Given the description of an element on the screen output the (x, y) to click on. 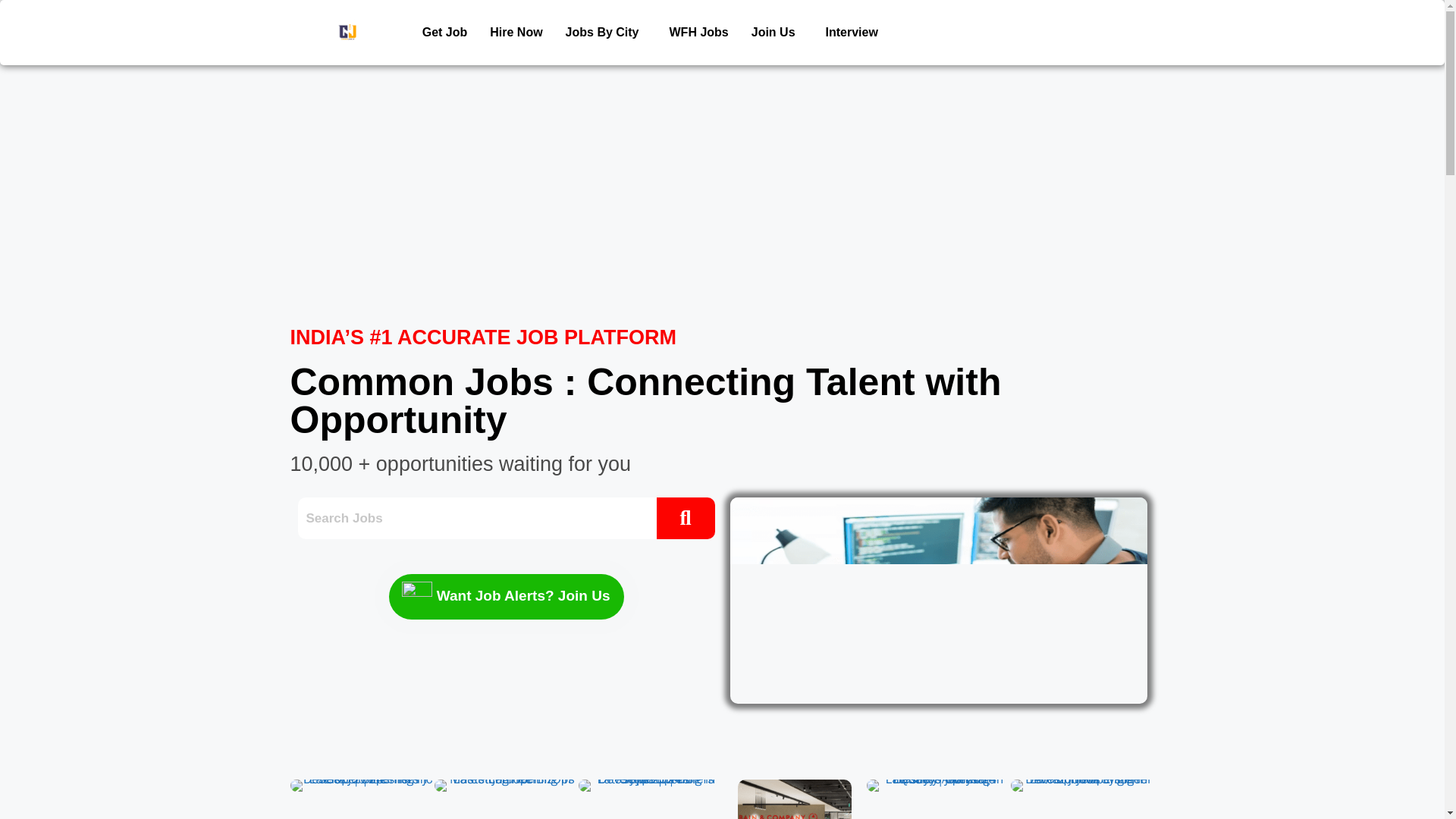
Join Us (776, 32)
WFH Jobs (698, 32)
Want Job Alerts? Join Us (505, 596)
Hire Now (516, 32)
Jobs By City (606, 32)
Interview (851, 32)
Search (476, 517)
Get Job (444, 32)
